Given the description of an element on the screen output the (x, y) to click on. 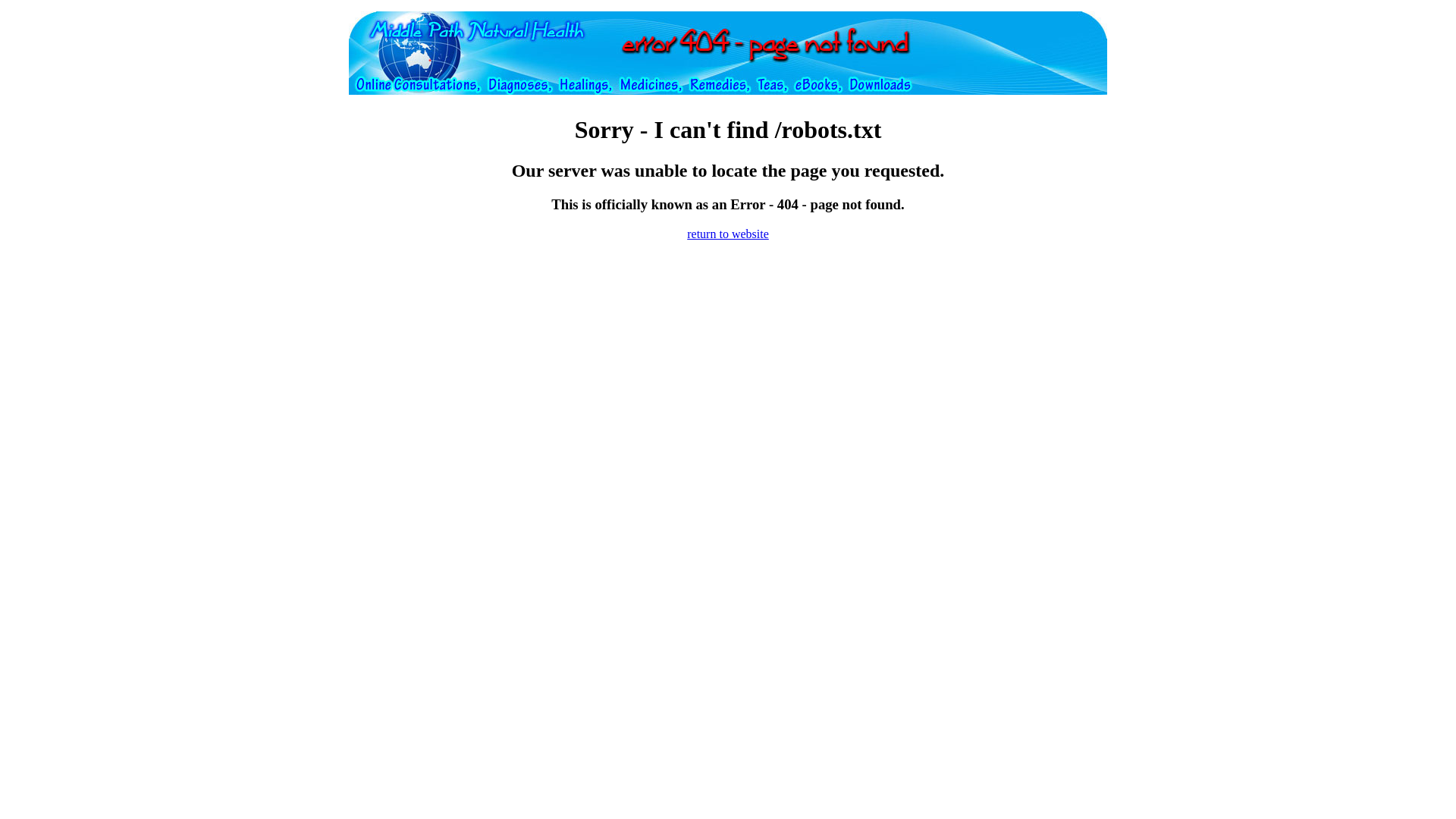
return to website Element type: text (727, 233)
